Given the description of an element on the screen output the (x, y) to click on. 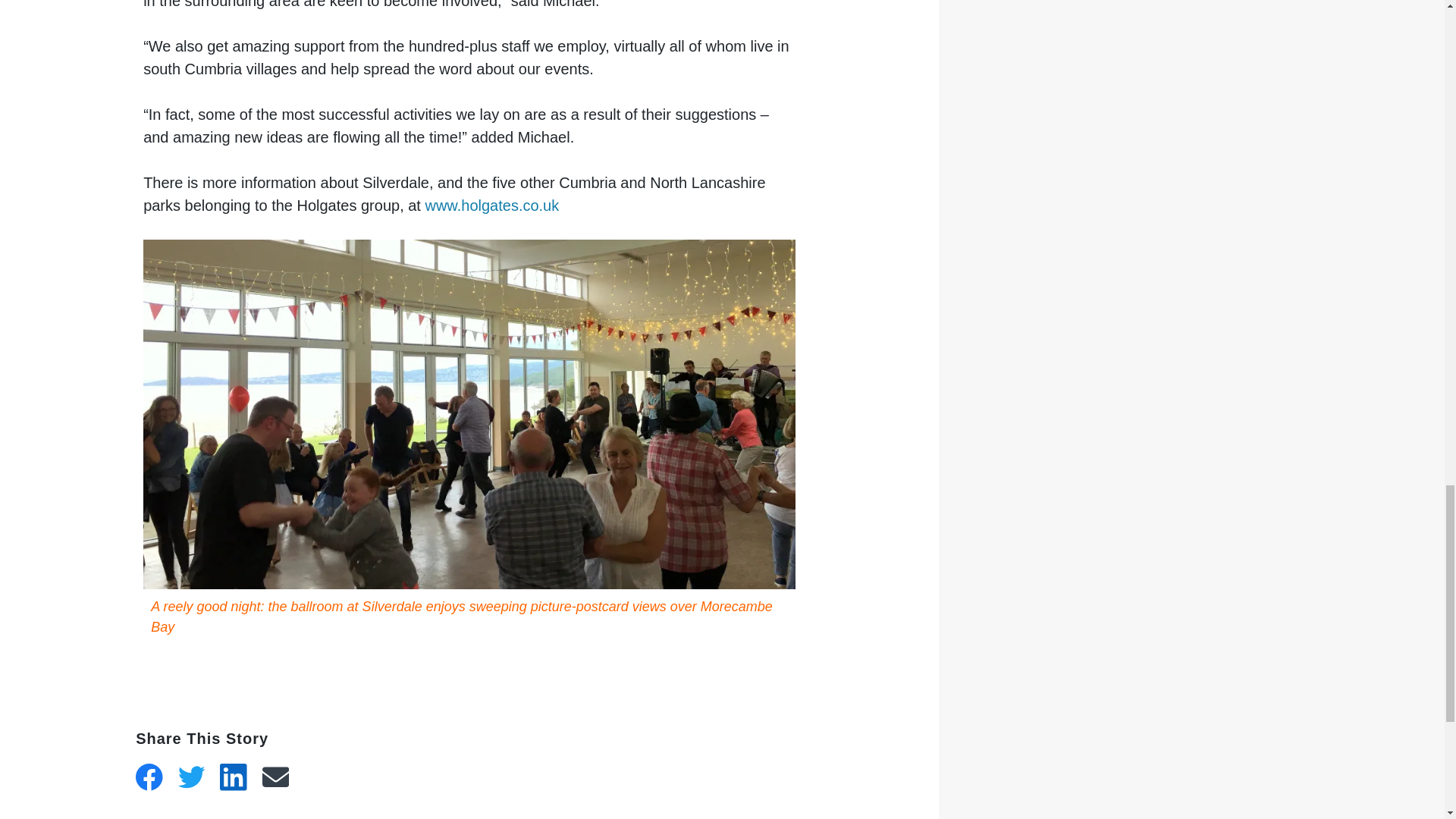
Share To Facebook (149, 777)
Share On Twitter (191, 777)
Share On LinkedIn (233, 777)
Share On Twitter (191, 777)
Share On LinkedIn (233, 777)
www.holgates.co.uk (492, 205)
Email a link to this story (275, 777)
Share To Facebook (149, 777)
Email a link to this story (275, 777)
